Given the description of an element on the screen output the (x, y) to click on. 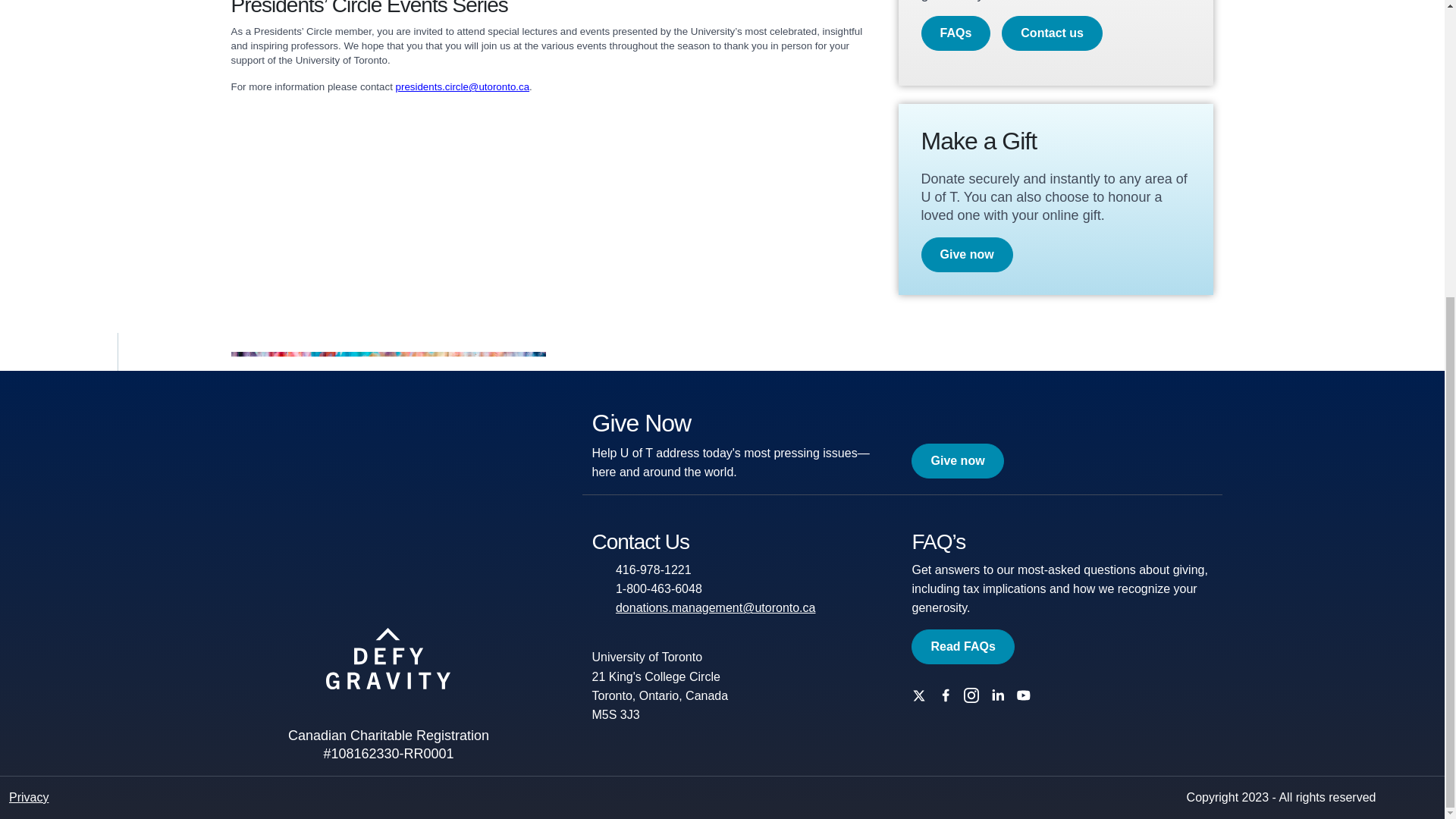
Read FAQs (962, 646)
Give now (965, 254)
Follow on YouTube (1027, 694)
Follow on Instagram (975, 694)
Give now (957, 460)
Follow on LinkedIn (1001, 694)
Privacy (28, 797)
Contact us (1051, 32)
Follow on Facebook (948, 694)
FAQs (955, 32)
